Given the description of an element on the screen output the (x, y) to click on. 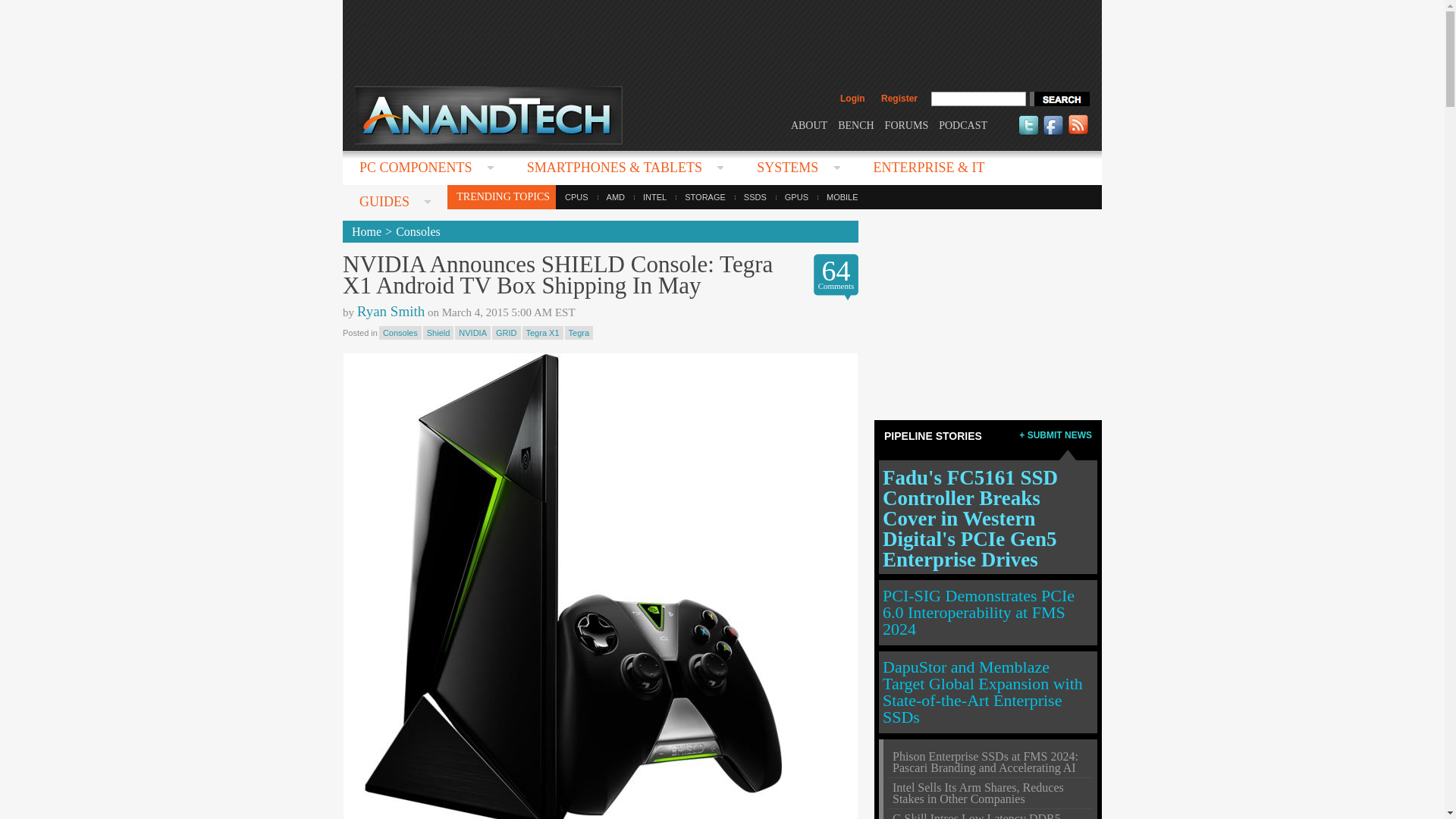
ABOUT (808, 125)
Register (898, 98)
FORUMS (906, 125)
search (1059, 98)
Login (852, 98)
PODCAST (963, 125)
search (1059, 98)
BENCH (855, 125)
search (1059, 98)
